Given the description of an element on the screen output the (x, y) to click on. 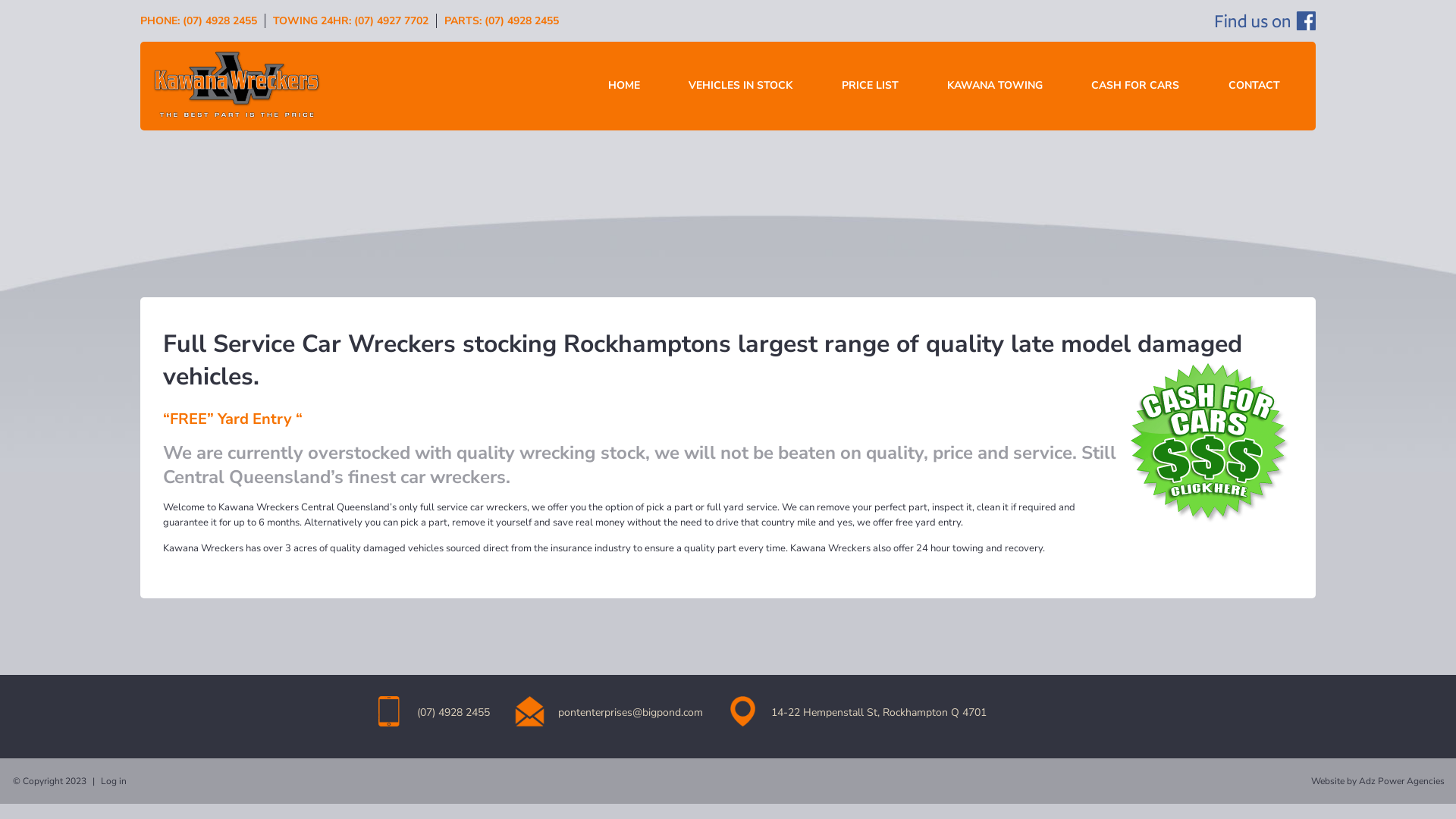
pontenterprises@bigpond.com Element type: text (630, 712)
CASH FOR CARS Element type: text (1134, 85)
(07) 4928 2455 Element type: text (219, 20)
KAWANA TOWING Element type: text (994, 85)
HOME Element type: text (623, 85)
CONTACT Element type: text (1254, 85)
Log in Element type: text (113, 781)
(07) 4927 7702 Element type: text (391, 20)
(07) 4928 2455 Element type: text (521, 20)
Website by Adz Power Agencies Element type: text (1377, 781)
PRICE LIST Element type: text (869, 85)
VEHICLES IN STOCK Element type: text (740, 85)
